Given the description of an element on the screen output the (x, y) to click on. 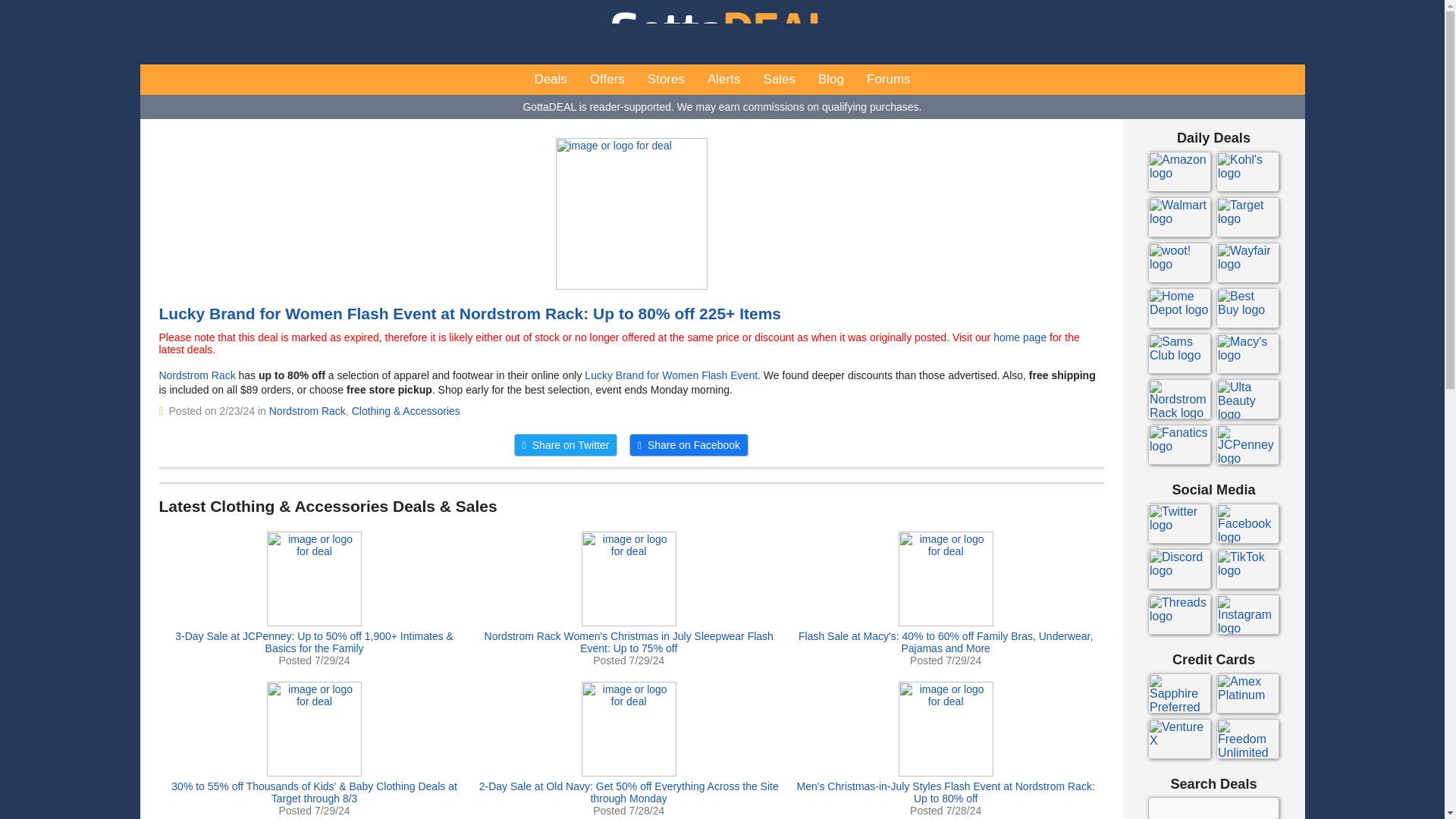
GottaDEAL - Why pay retail? (722, 32)
Sales (778, 79)
  Share on Facebook (688, 445)
  Share on Twitter (565, 445)
Forums (888, 79)
Deals (550, 79)
Offers (607, 79)
Stores (665, 79)
home page (1019, 337)
Nordstrom Rack (196, 375)
Alerts (723, 79)
Blog (831, 79)
Lucky Brand for Women Flash Event (671, 375)
Nordstrom Rack (307, 410)
